Given the description of an element on the screen output the (x, y) to click on. 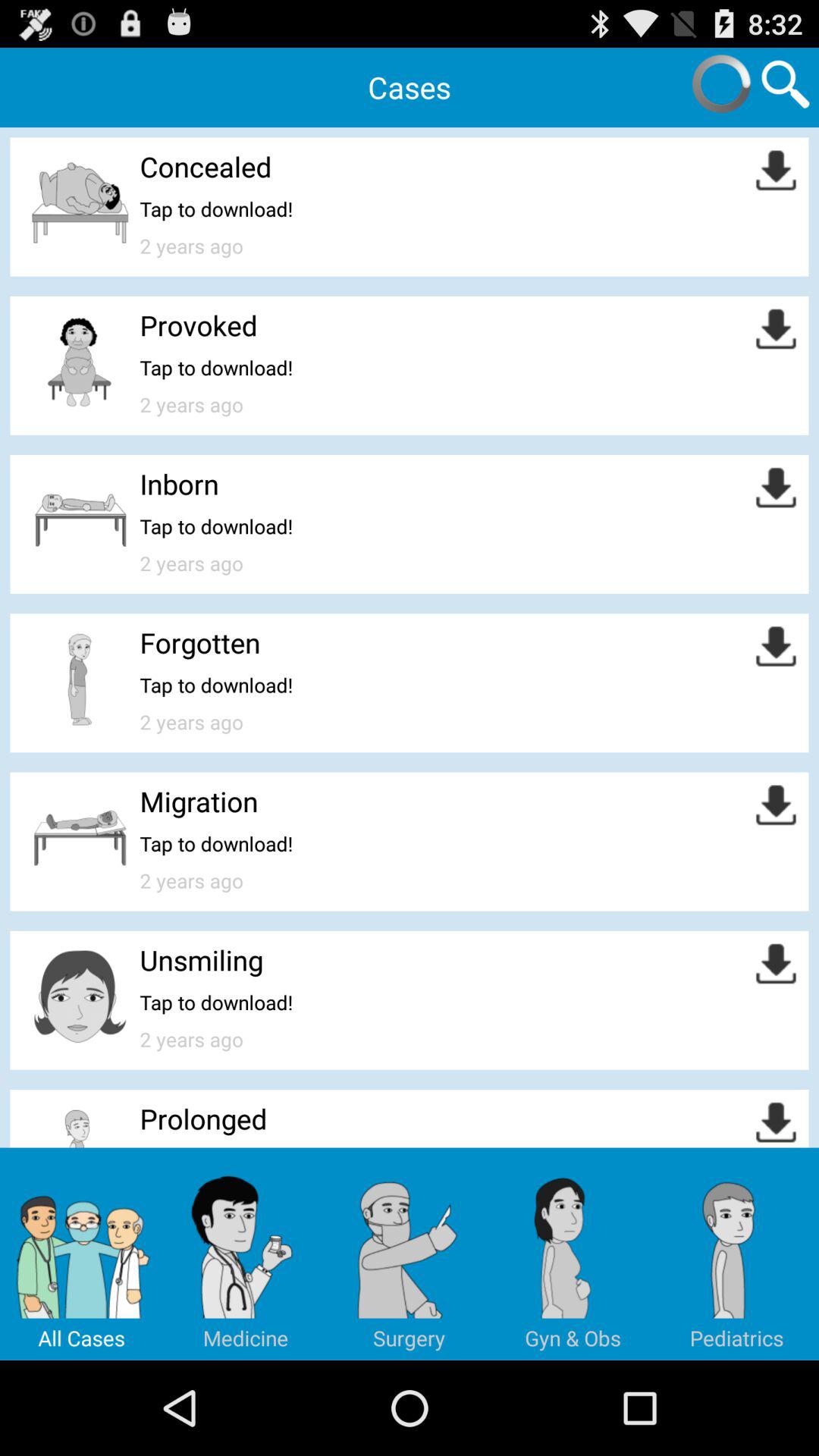
press unsmiling app (201, 959)
